Given the description of an element on the screen output the (x, y) to click on. 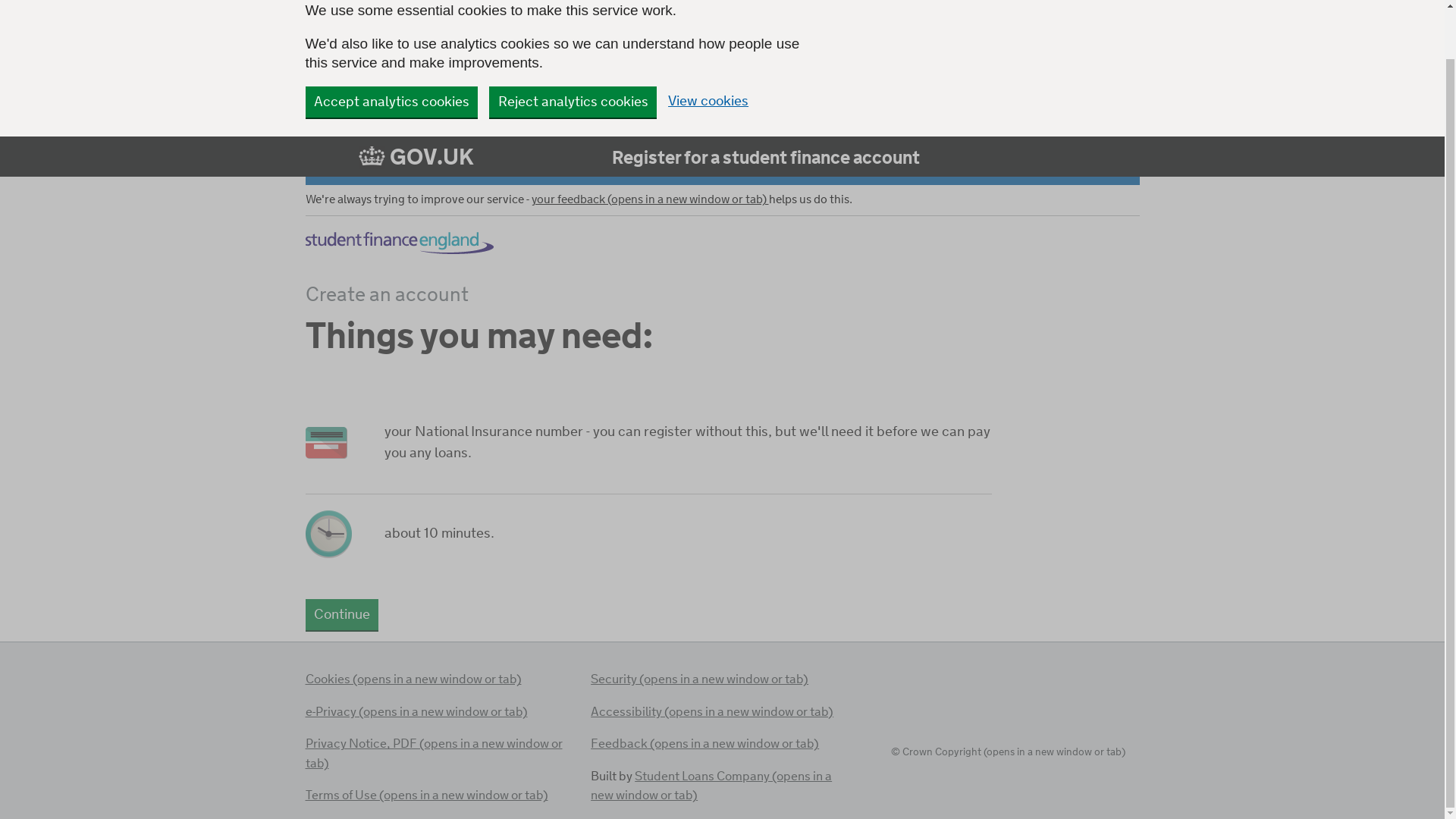
Reject analytics cookies (572, 101)
Continue (341, 613)
View cookies (708, 101)
Accept analytics cookies (390, 101)
Continue (341, 613)
